Given the description of an element on the screen output the (x, y) to click on. 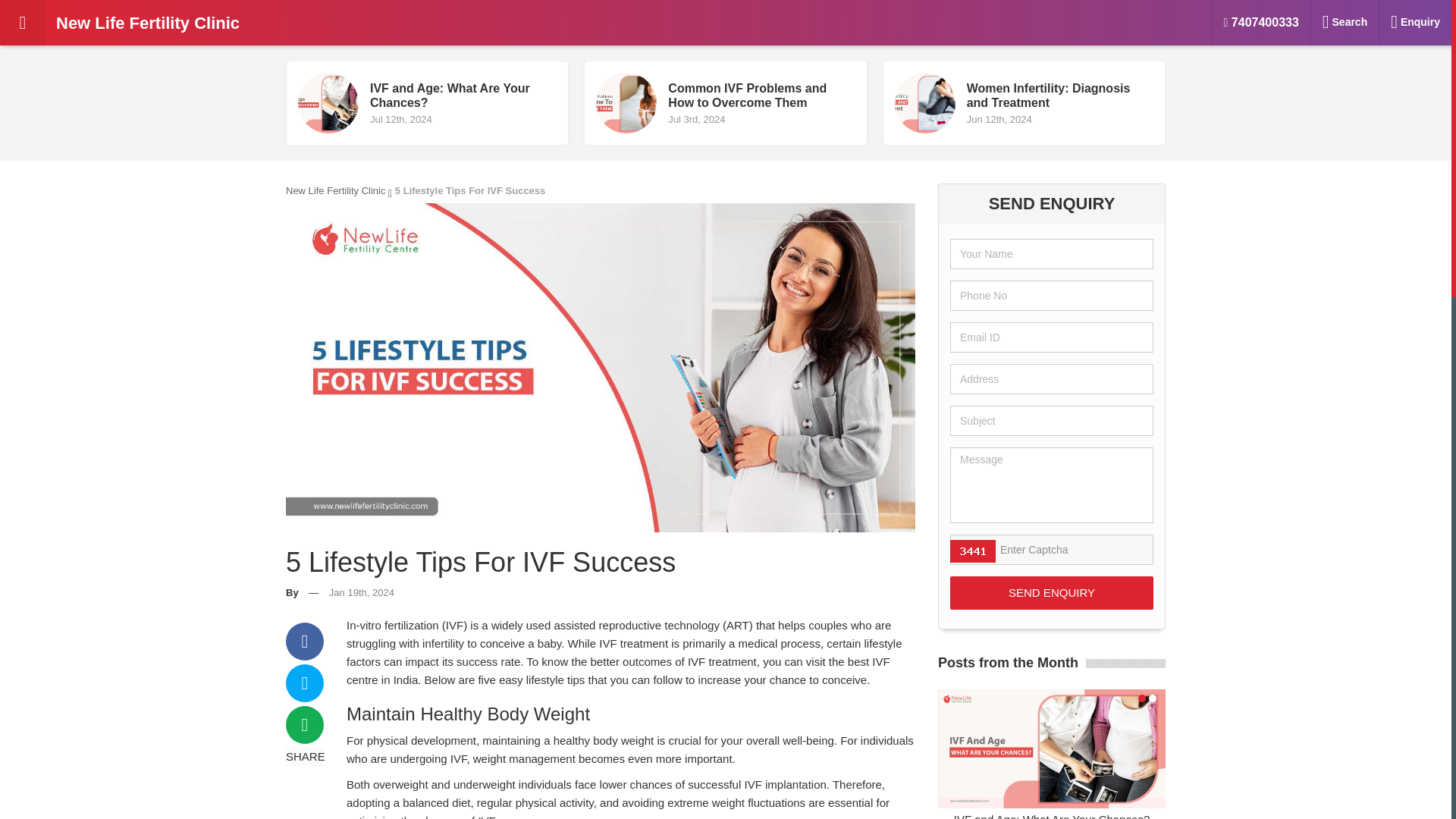
7407400333 (1261, 22)
SEND ENQUIRY (725, 102)
New Life Fertility Clinic (1051, 592)
SEND ENQUIRY (1023, 102)
5 Lifestyle Tips For IVF Success (426, 102)
New Life Fertility Clinic (335, 190)
IVF and Age: What Are Your Chances? (1051, 592)
By (469, 191)
